Given the description of an element on the screen output the (x, y) to click on. 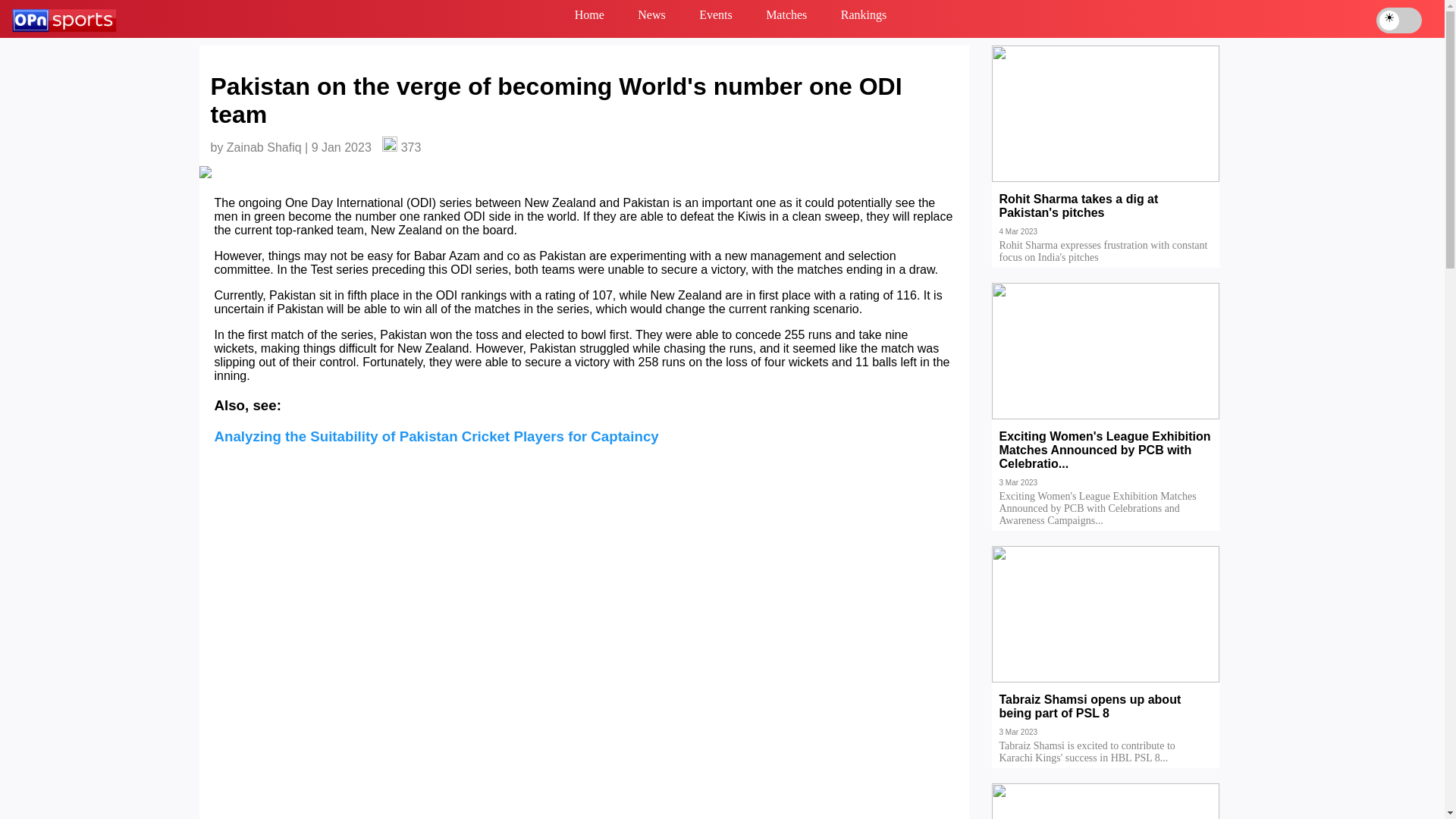
News (651, 19)
Rankings (862, 19)
Events (715, 19)
Home (589, 19)
Matches (785, 19)
Tabraiz Shamsi opens up about being part of PSL 8 (1105, 717)
Rohit Sharma takes a dig at Pakistan's pitches (1105, 216)
